Given the description of an element on the screen output the (x, y) to click on. 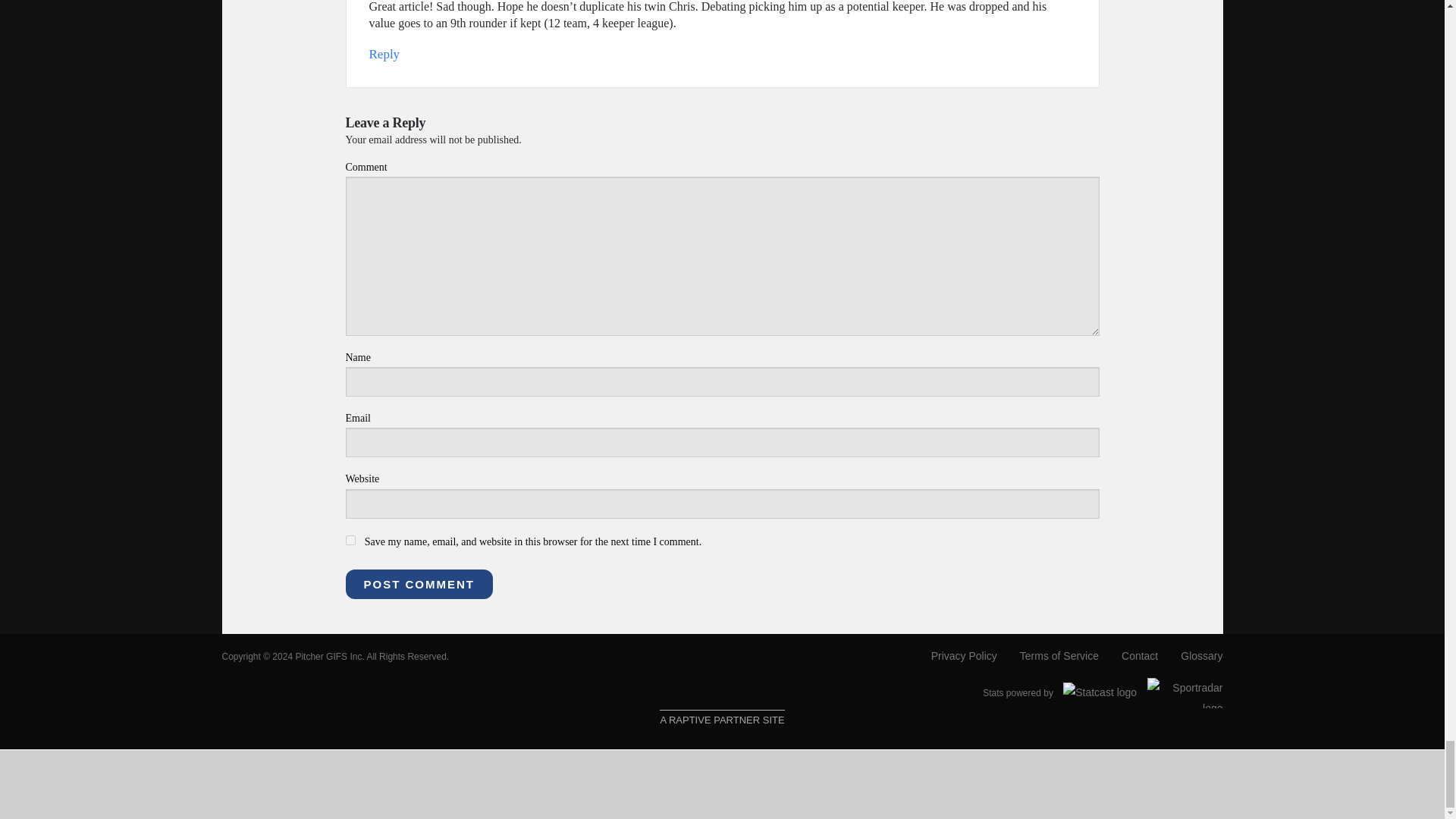
Post Comment (419, 583)
yes (350, 540)
